Given the description of an element on the screen output the (x, y) to click on. 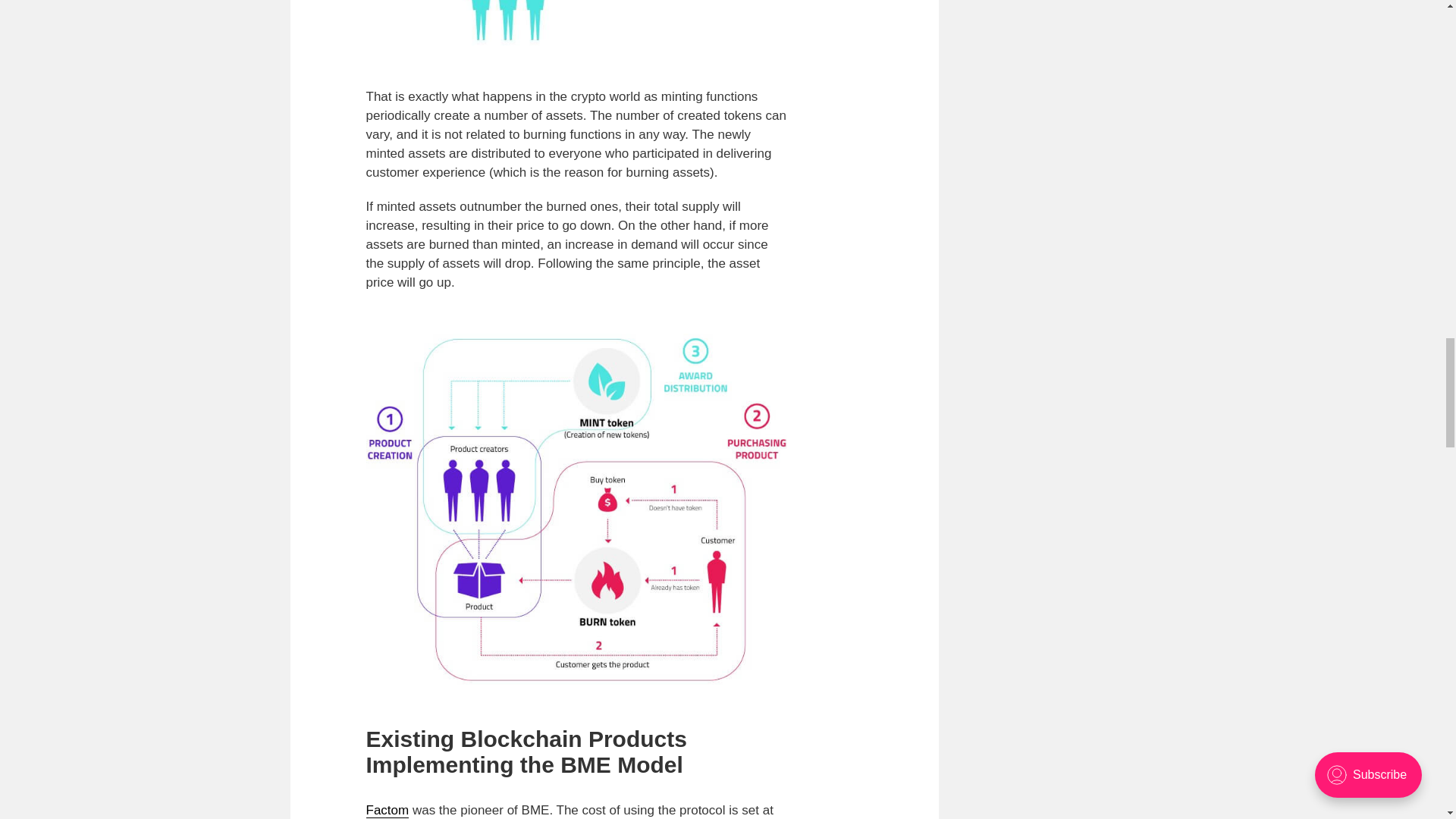
Factom (387, 810)
